Given the description of an element on the screen output the (x, y) to click on. 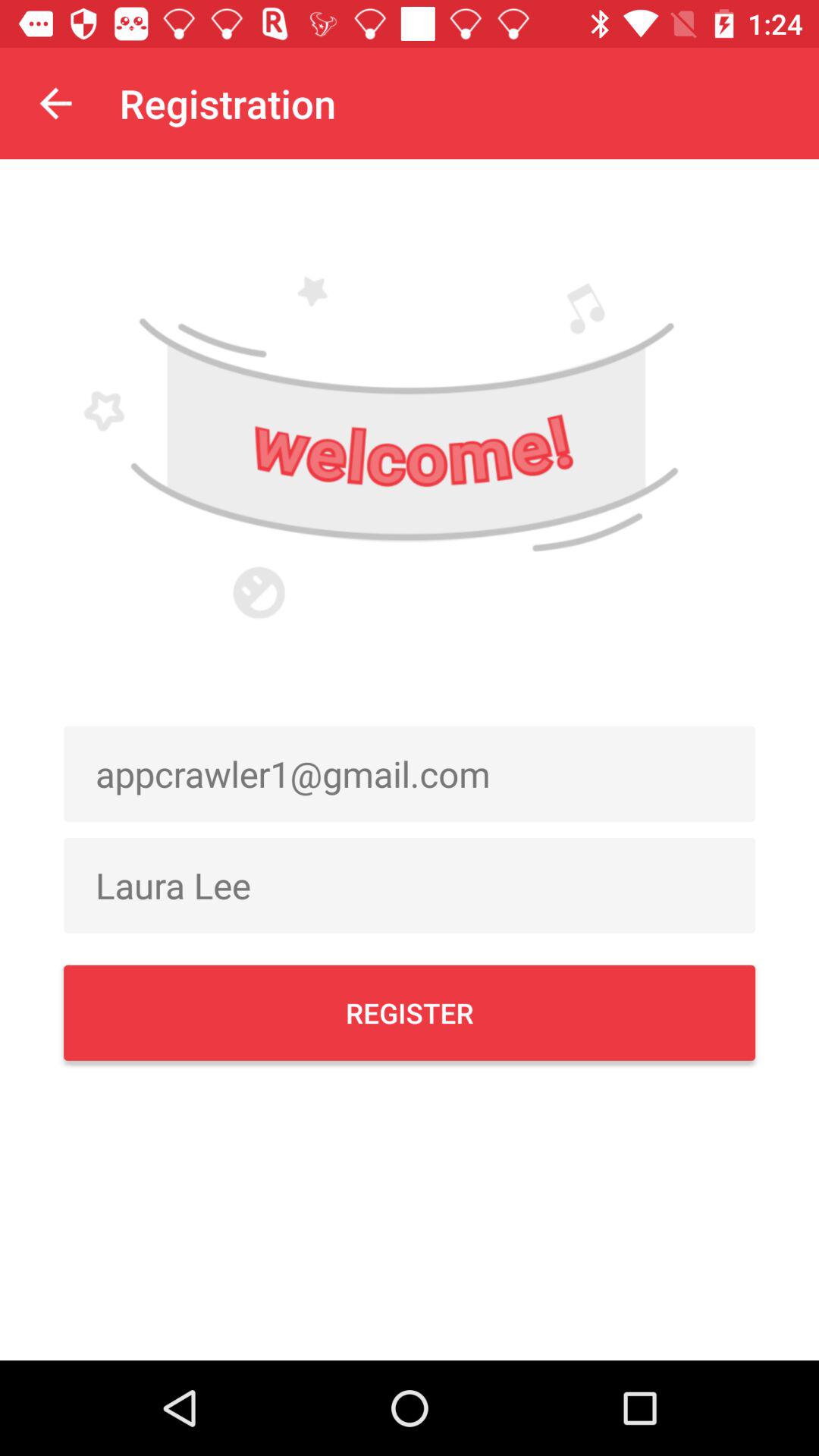
choose the icon above the register icon (409, 885)
